Given the description of an element on the screen output the (x, y) to click on. 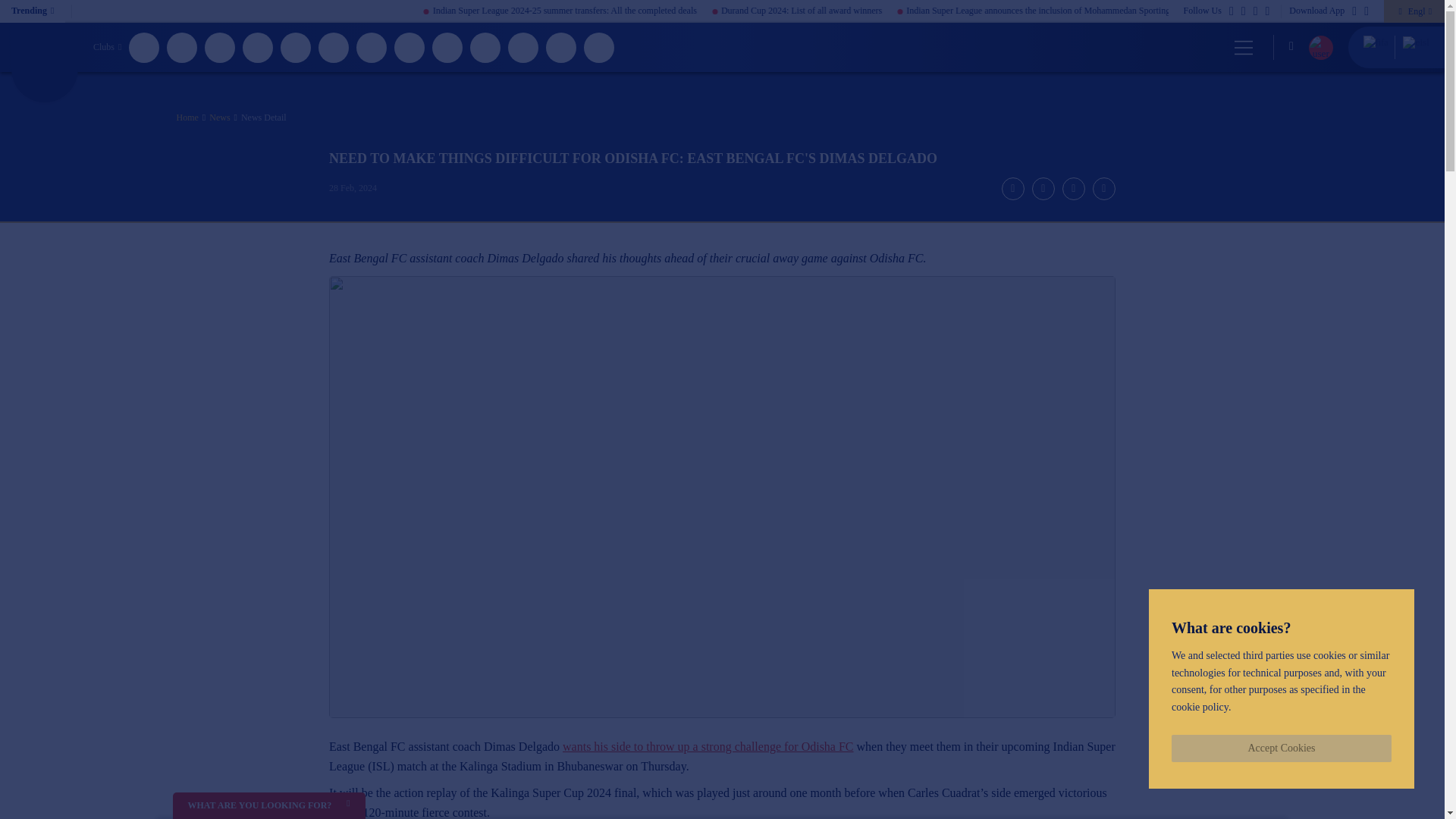
Jamshedpur FC (333, 46)
Hyderabad FC (296, 46)
NorthEast United FC (523, 46)
Odisha FC (561, 46)
Mohammedan SC (409, 46)
Mohun Bagan Super Giant (447, 46)
Mumbai City FC (485, 46)
Durand Cup 2024: List of all award winners (910, 11)
Kerala Blasters FC (371, 46)
